Given the description of an element on the screen output the (x, y) to click on. 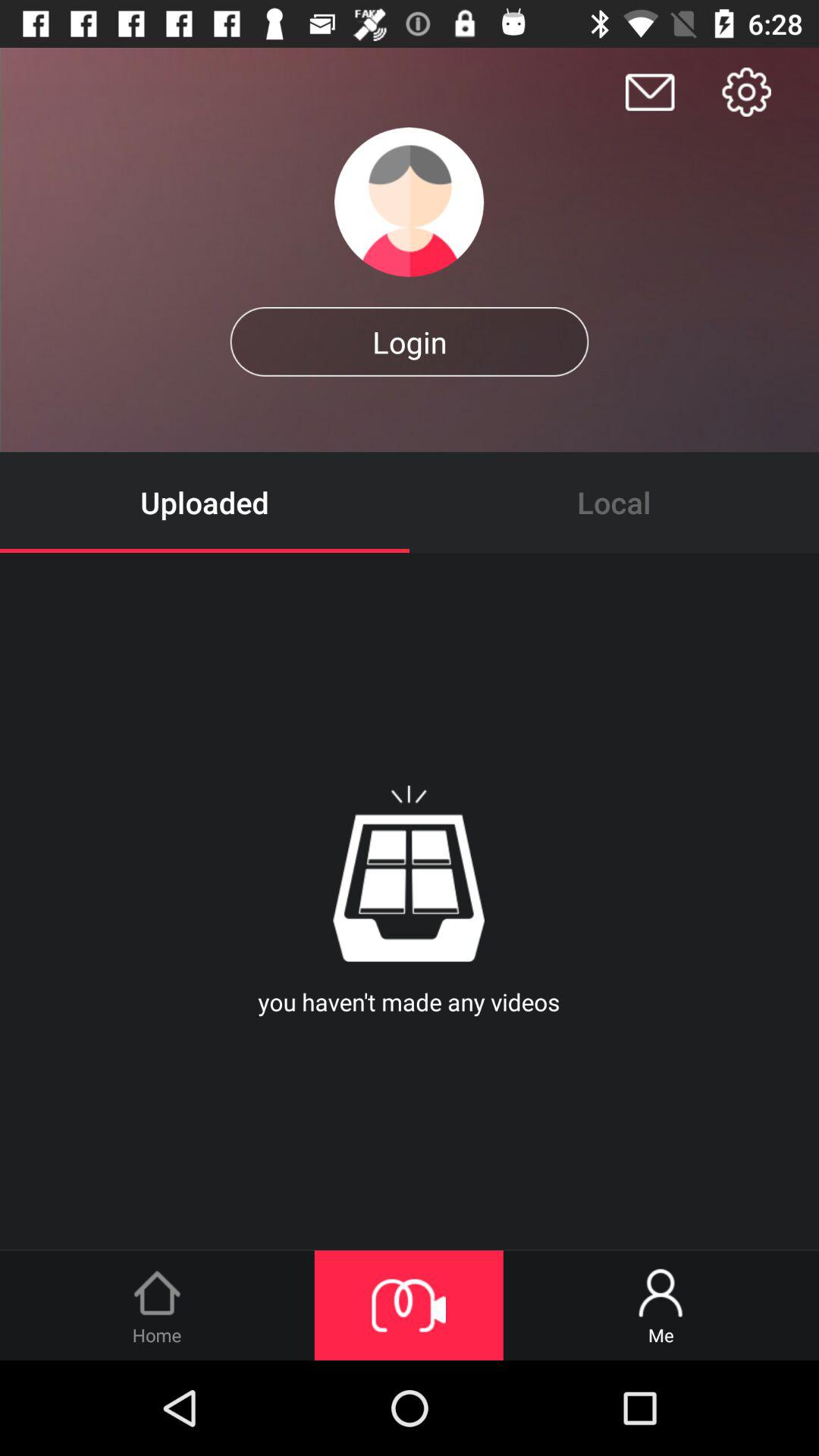
click on message icon (649, 91)
